Given the description of an element on the screen output the (x, y) to click on. 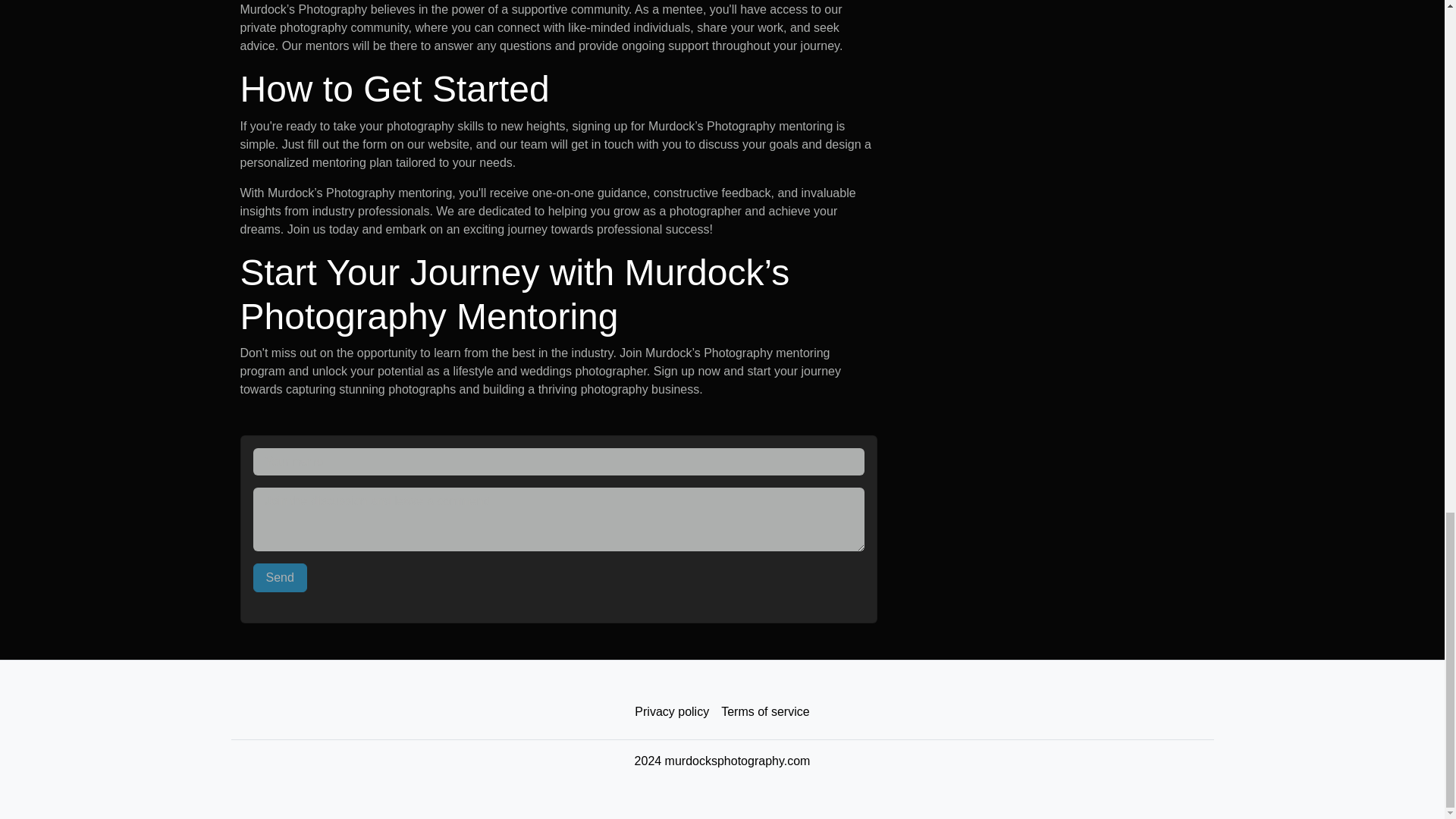
Send (280, 577)
Privacy policy (671, 711)
Send (280, 577)
Terms of service (764, 711)
